Given the description of an element on the screen output the (x, y) to click on. 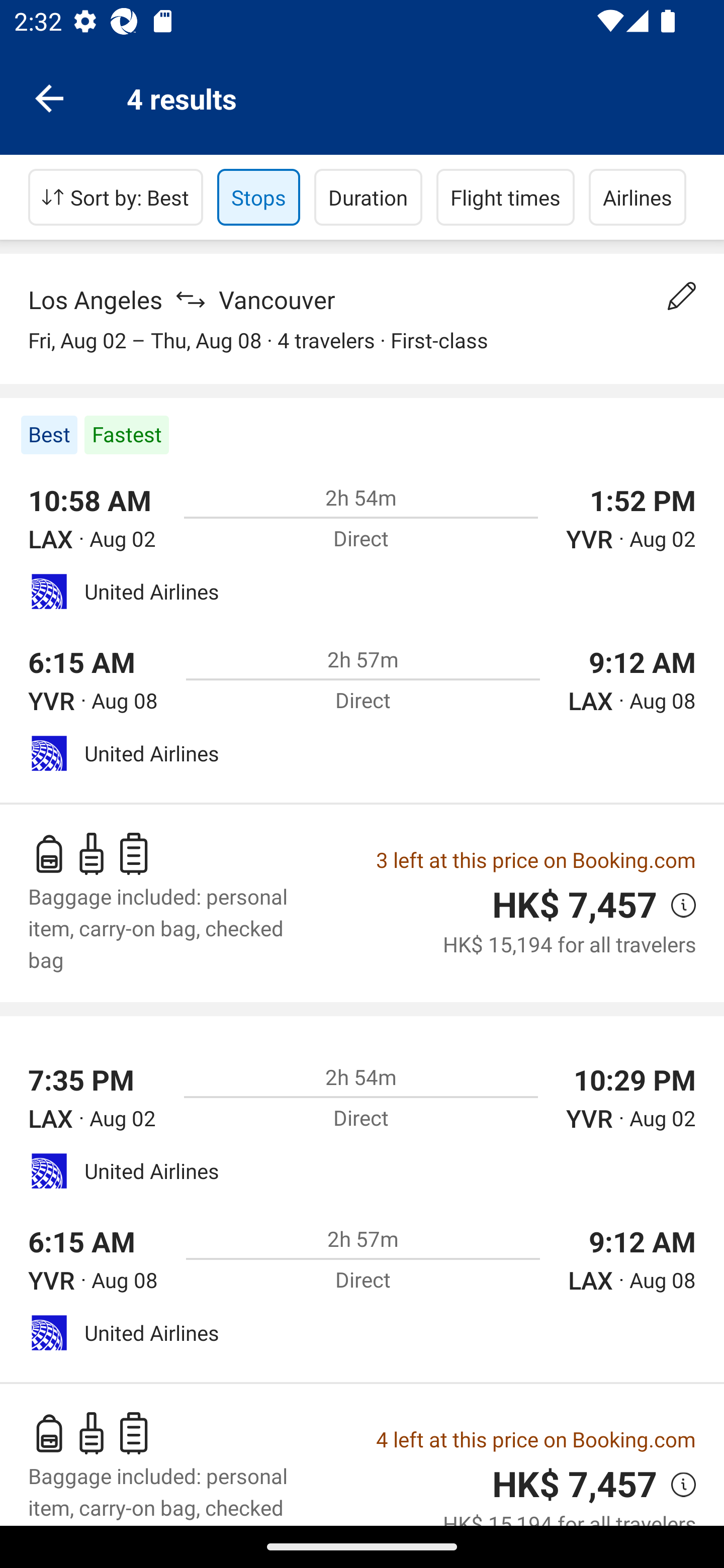
Navigate up (49, 97)
Sort by: Best (115, 197)
Stops (258, 197)
Duration (368, 197)
Flight times (505, 197)
Airlines (637, 197)
Change your search details (681, 296)
HK$ 7,457 (574, 905)
view price details, opens a pop-up (676, 905)
HK$ 7,457 (574, 1483)
view price details, opens a pop-up (676, 1483)
